Given the description of an element on the screen output the (x, y) to click on. 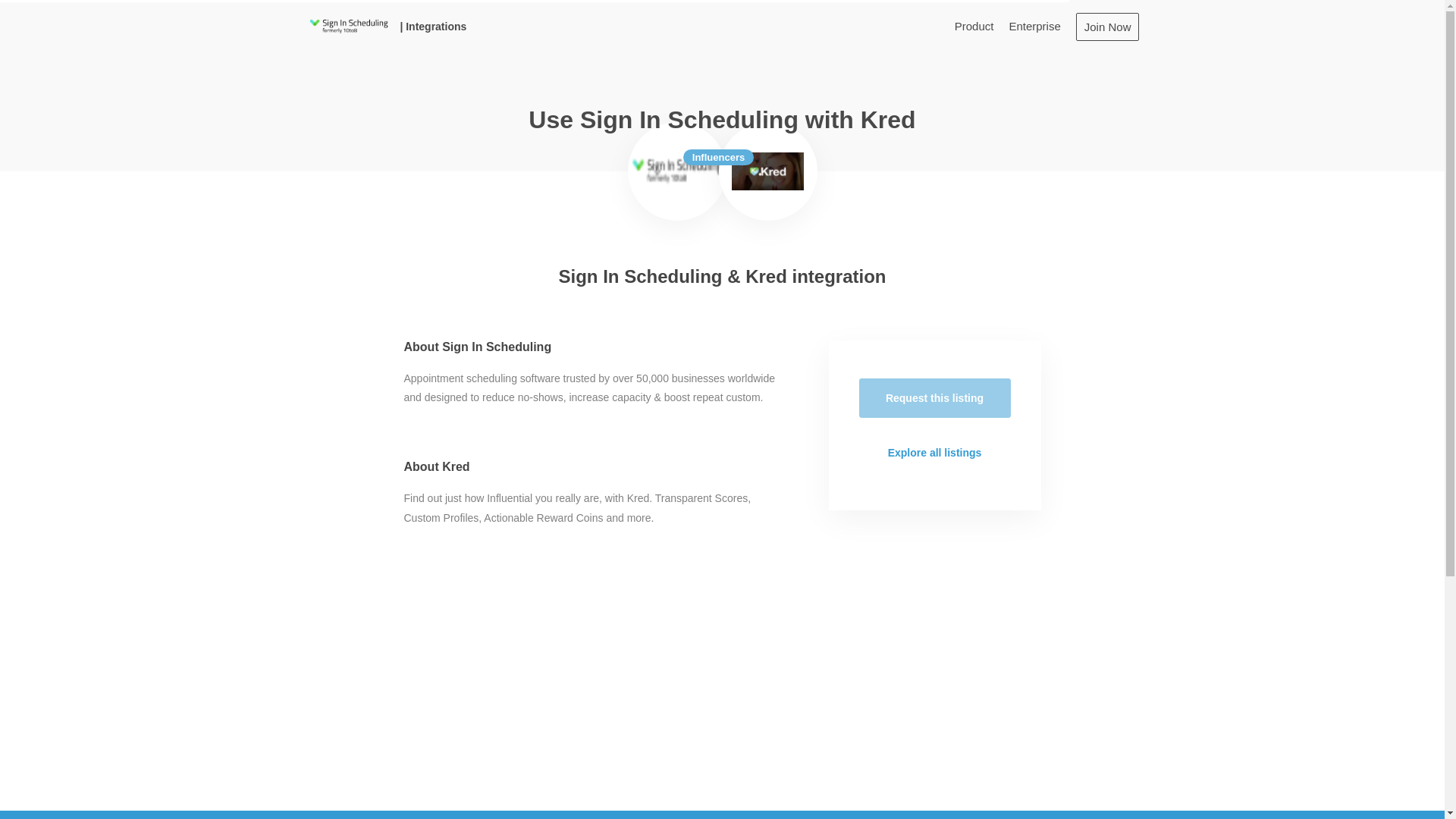
Join Now (1107, 26)
Explore all listings (934, 452)
Kred (767, 171)
Sign In Scheduling (347, 26)
Product (974, 25)
Enterprise (1034, 25)
Sign In Scheduling (676, 171)
Request this listing (934, 397)
